Given the description of an element on the screen output the (x, y) to click on. 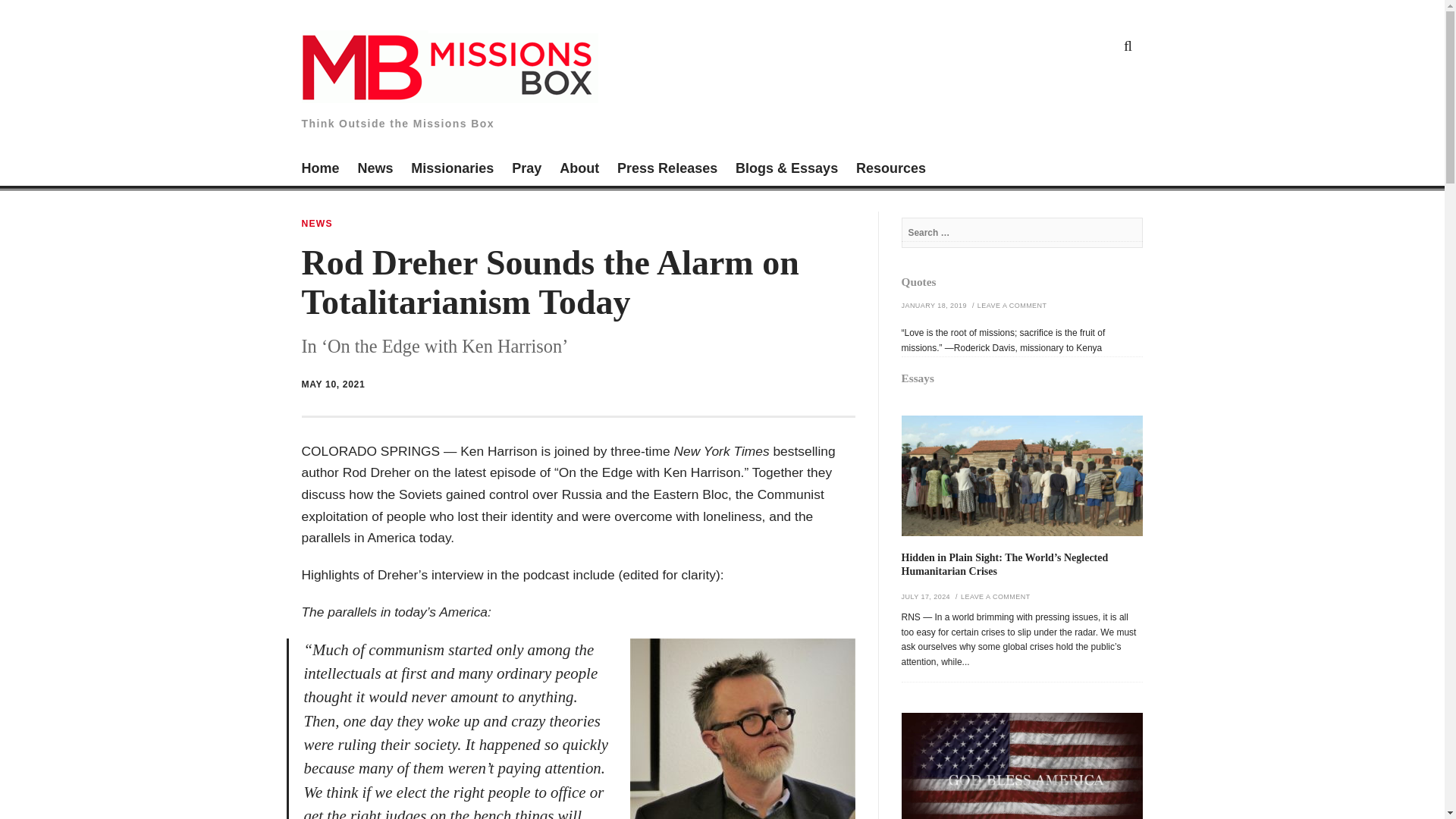
Missions Box Press Releases (667, 170)
About (578, 170)
About (578, 170)
News (374, 170)
Missions Box Home Page (320, 170)
Home (320, 170)
MAY 10, 2021 (333, 384)
Press Releases (667, 170)
NEWS (317, 223)
Resources (891, 170)
